Given the description of an element on the screen output the (x, y) to click on. 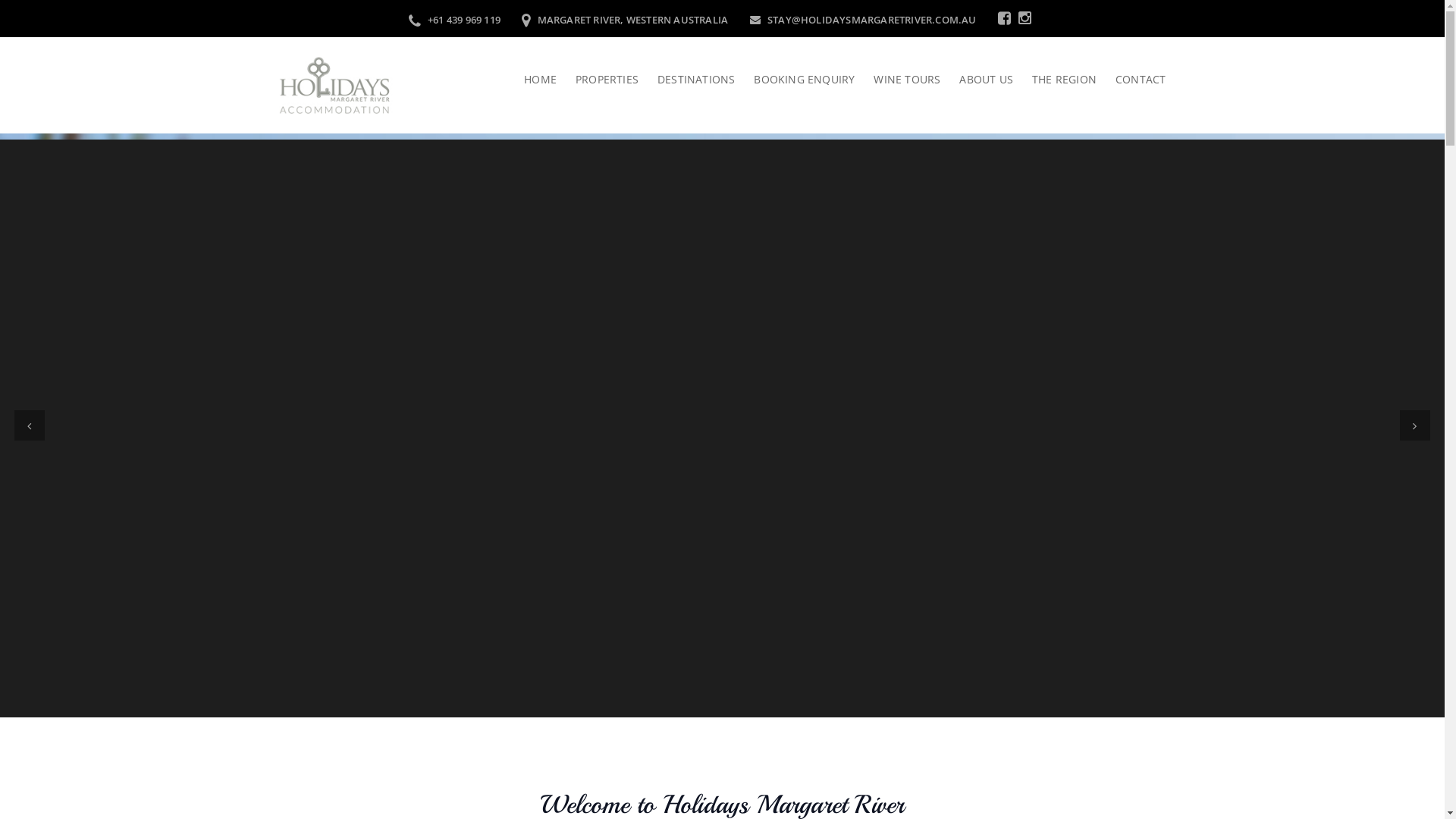
HOME Element type: text (540, 79)
ABOUT US Element type: text (976, 79)
Next Element type: text (1414, 425)
CONTACT Element type: text (1130, 79)
+61 439 969 119 Element type: text (454, 18)
STAY@HOLIDAYSMARGARETRIVER.COM.AU Element type: text (862, 18)
Previous Element type: text (29, 425)
BOOKING ENQUIRY Element type: text (794, 79)
WINE TOURS Element type: text (897, 79)
THE REGION Element type: text (1054, 79)
DESTINATIONS Element type: text (686, 79)
MARGARET RIVER, WESTERN AUSTRALIA Element type: text (624, 18)
PROPERTIES Element type: text (597, 79)
